Given the description of an element on the screen output the (x, y) to click on. 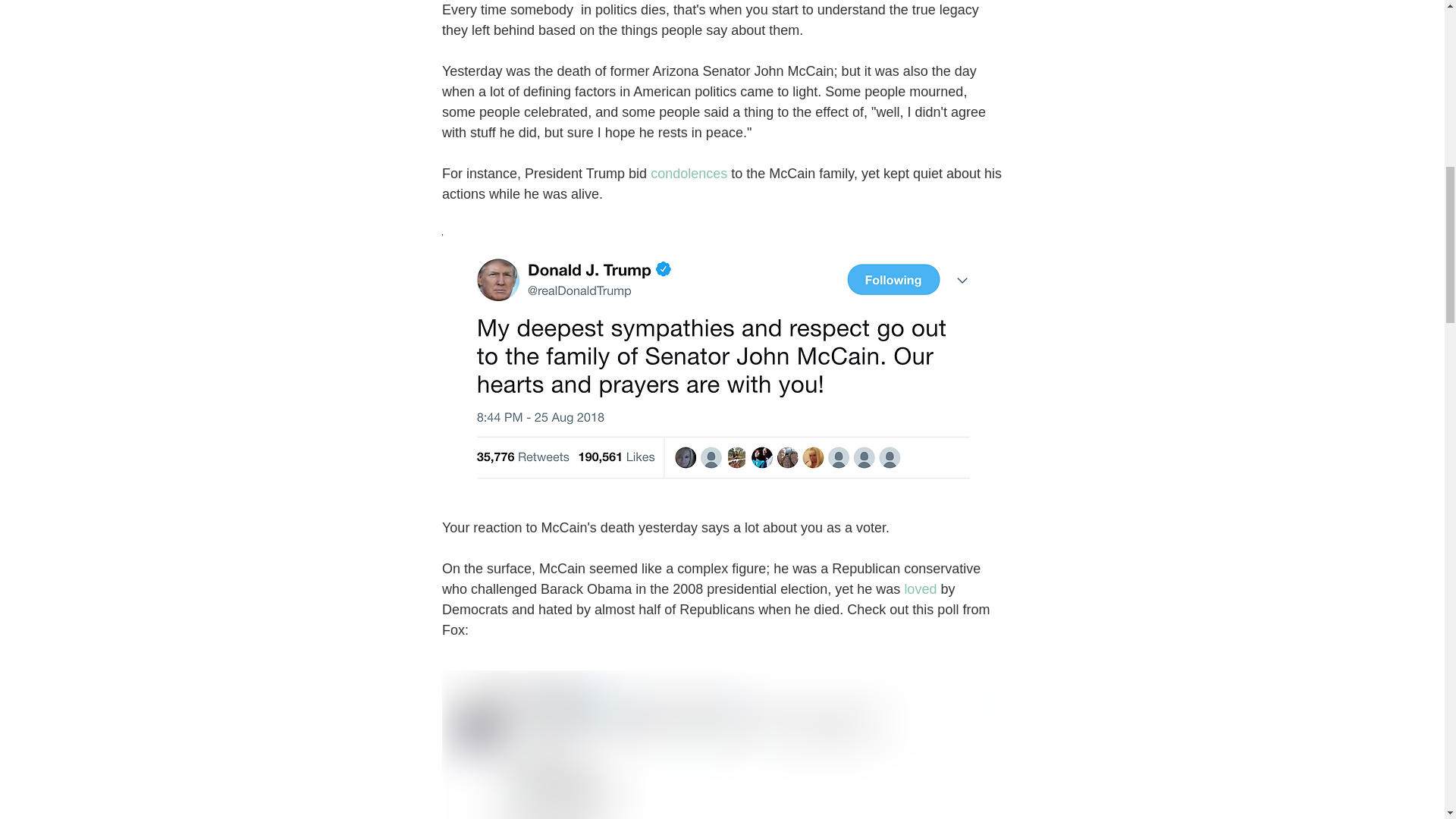
condolences (688, 173)
loved (920, 589)
